Given the description of an element on the screen output the (x, y) to click on. 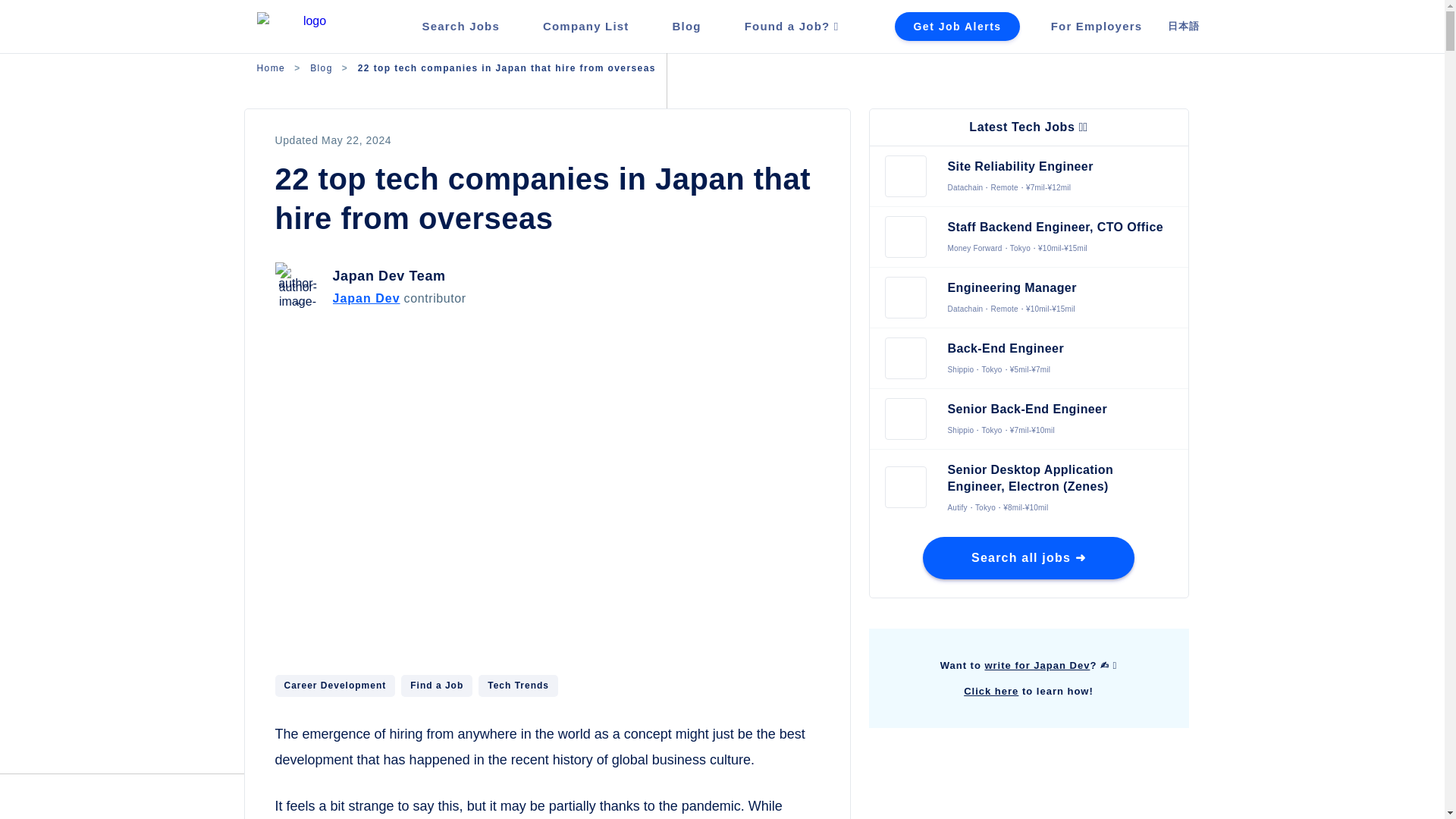
Japan Dev (364, 298)
Career Development (334, 685)
Home (270, 68)
Get Job Alerts (957, 26)
For Employers (1096, 25)
Blog (321, 68)
22 top tech companies in Japan that hire from overseas (507, 68)
Tech Trends (518, 685)
Company List (585, 26)
Find a Job (436, 685)
Search Jobs (460, 26)
Blog (686, 26)
